Given the description of an element on the screen output the (x, y) to click on. 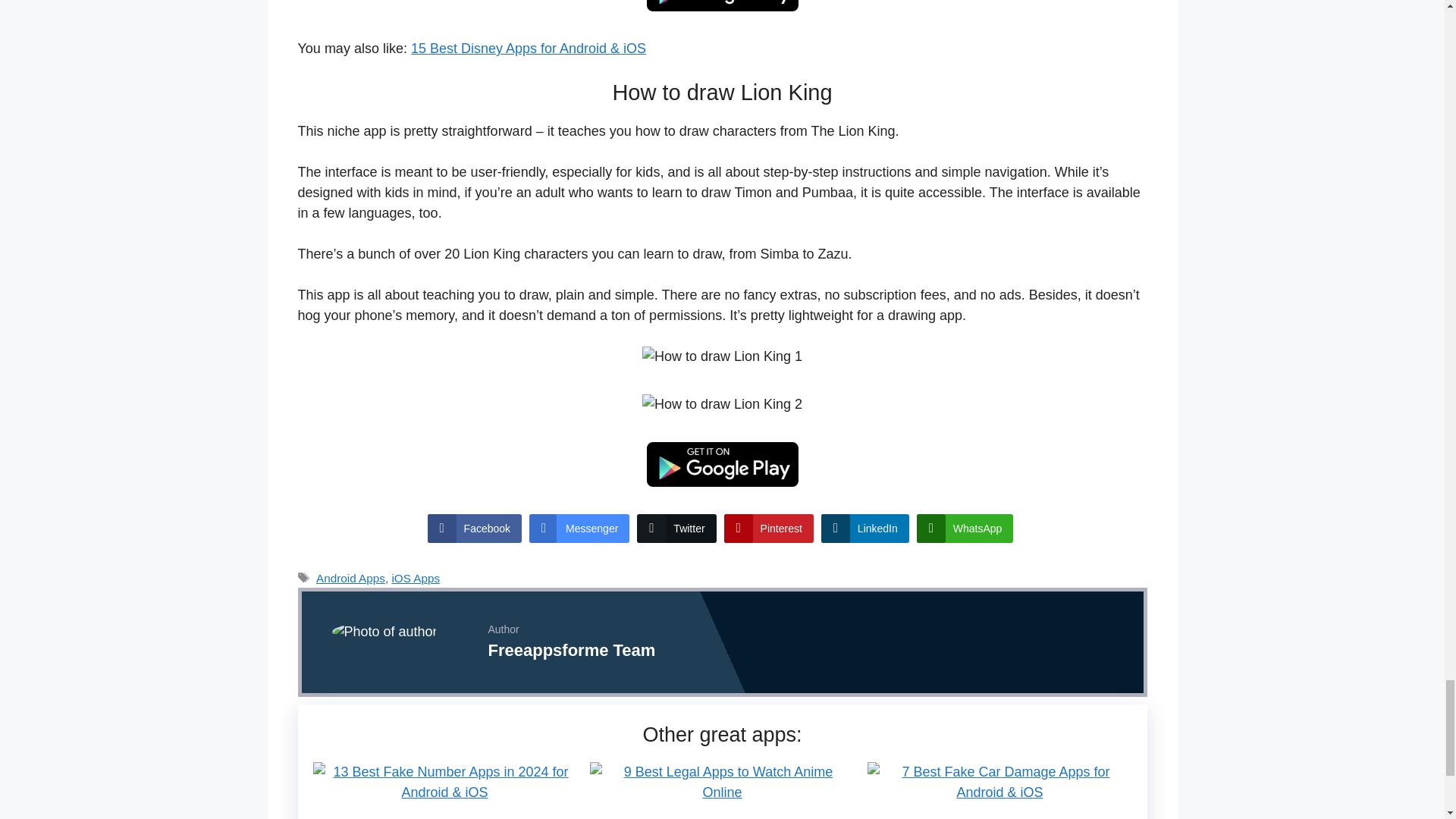
WhatsApp (965, 528)
LinkedIn (864, 528)
9 Best Legal Apps to Watch Anime Online (721, 792)
iOS Apps (415, 577)
Facebook (474, 528)
Pinterest (768, 528)
Messenger (578, 528)
Android Apps (350, 577)
Twitter (676, 528)
